Given the description of an element on the screen output the (x, y) to click on. 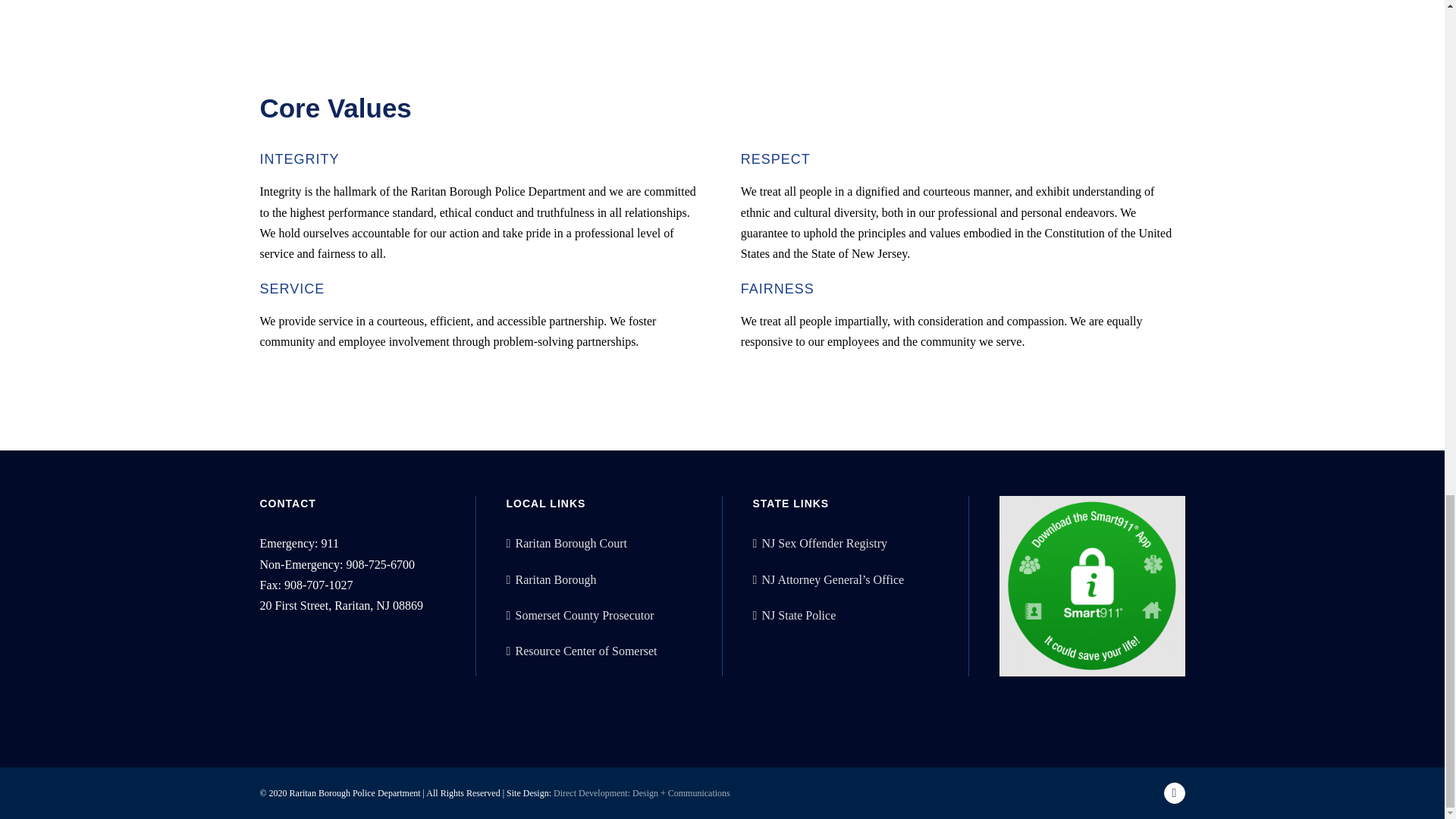
NJ State Police (845, 615)
NJ Sex Offender Registry (845, 543)
Facebook (1174, 792)
Raritan Borough (599, 579)
Resource Center of Somerset (599, 650)
Somerset County Prosecutor (599, 615)
Raritan Borough Court (599, 543)
